Given the description of an element on the screen output the (x, y) to click on. 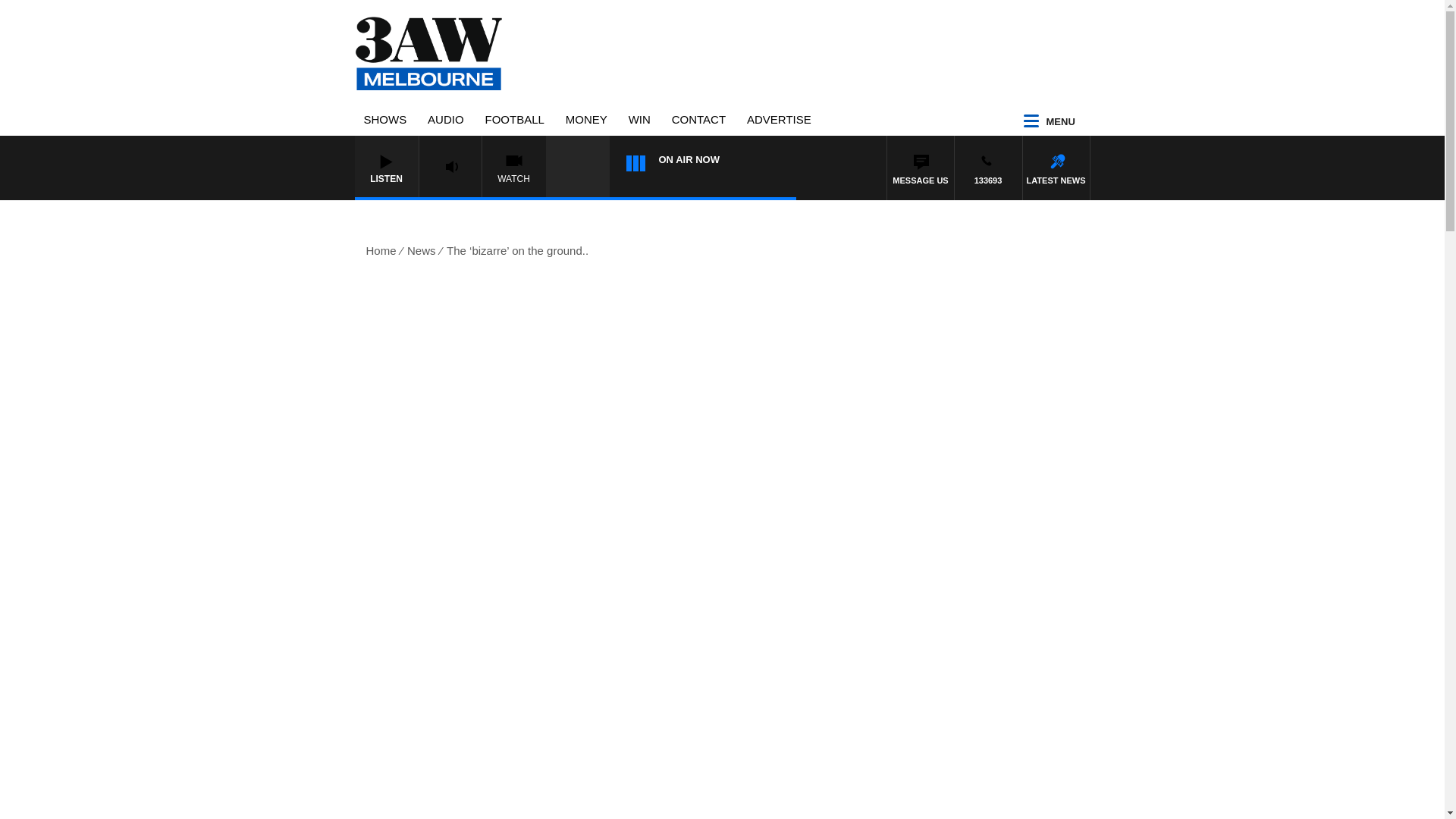
WIN (639, 118)
SHOWS (385, 118)
FOOTBALL (513, 118)
AUDIO (445, 118)
MONEY (586, 118)
